Given the description of an element on the screen output the (x, y) to click on. 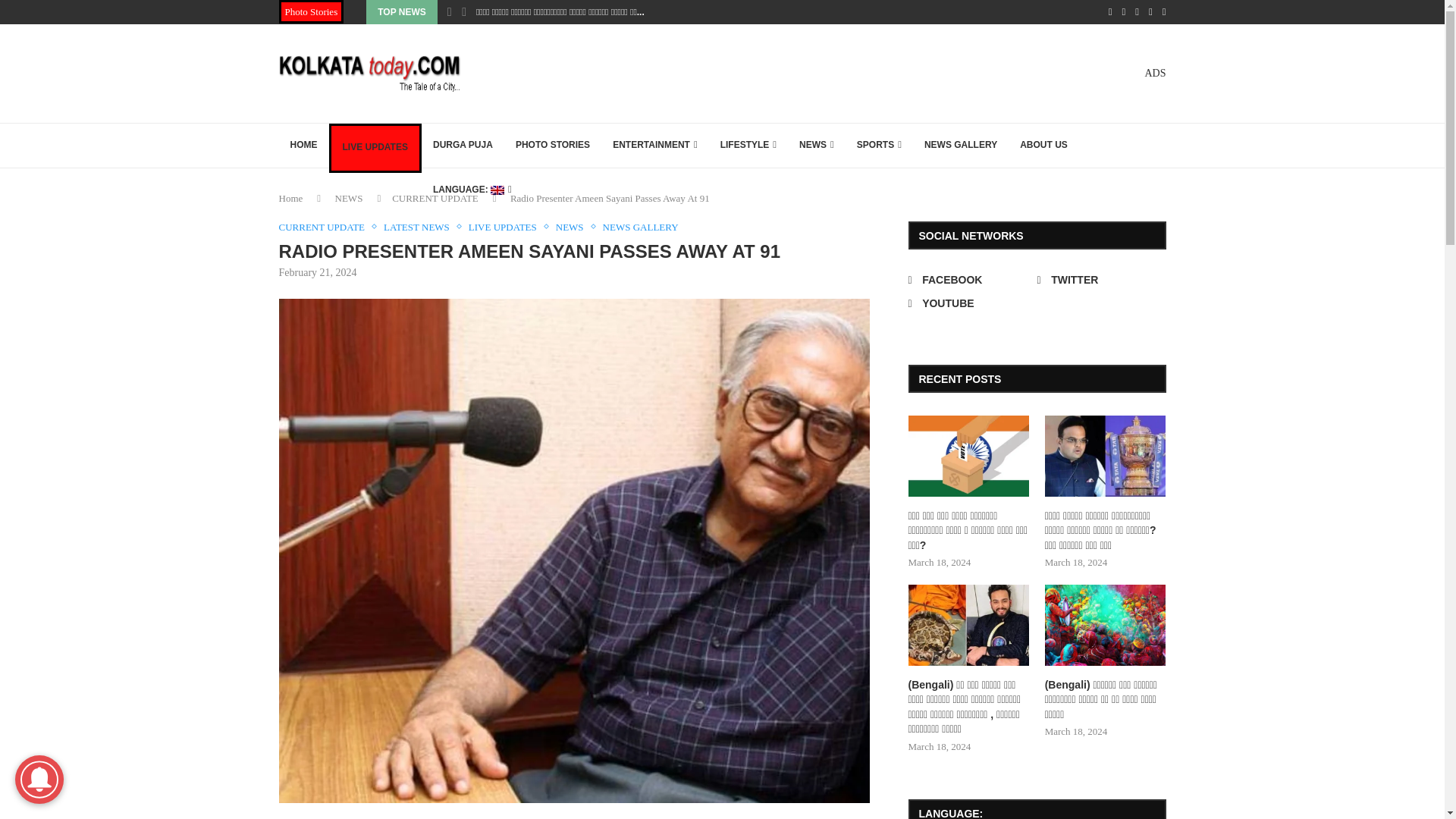
HOME (304, 145)
LIVE UPDATES (374, 147)
LIFESTYLE (748, 145)
English (472, 189)
Photo Stories (311, 11)
ENTERTAINMENT (655, 145)
PHOTO STORIES (552, 145)
DURGA PUJA (462, 145)
